Given the description of an element on the screen output the (x, y) to click on. 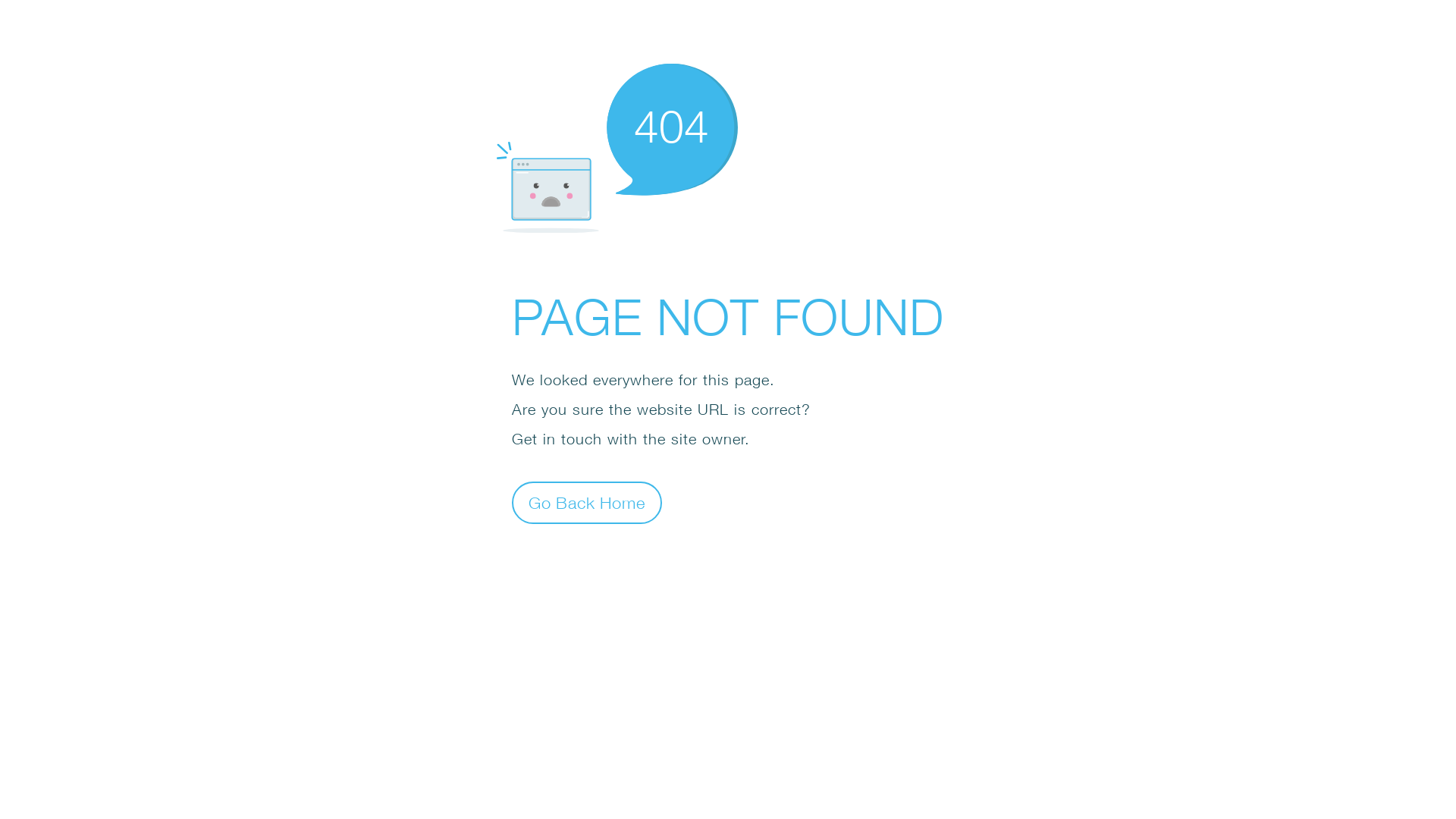
Go Back Home Element type: text (586, 502)
